Given the description of an element on the screen output the (x, y) to click on. 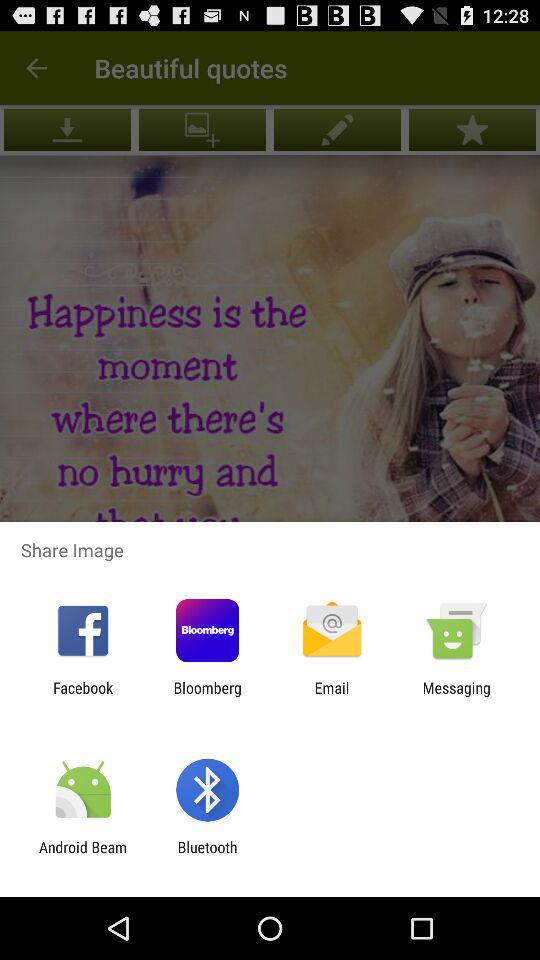
launch the item next to messaging (331, 696)
